Given the description of an element on the screen output the (x, y) to click on. 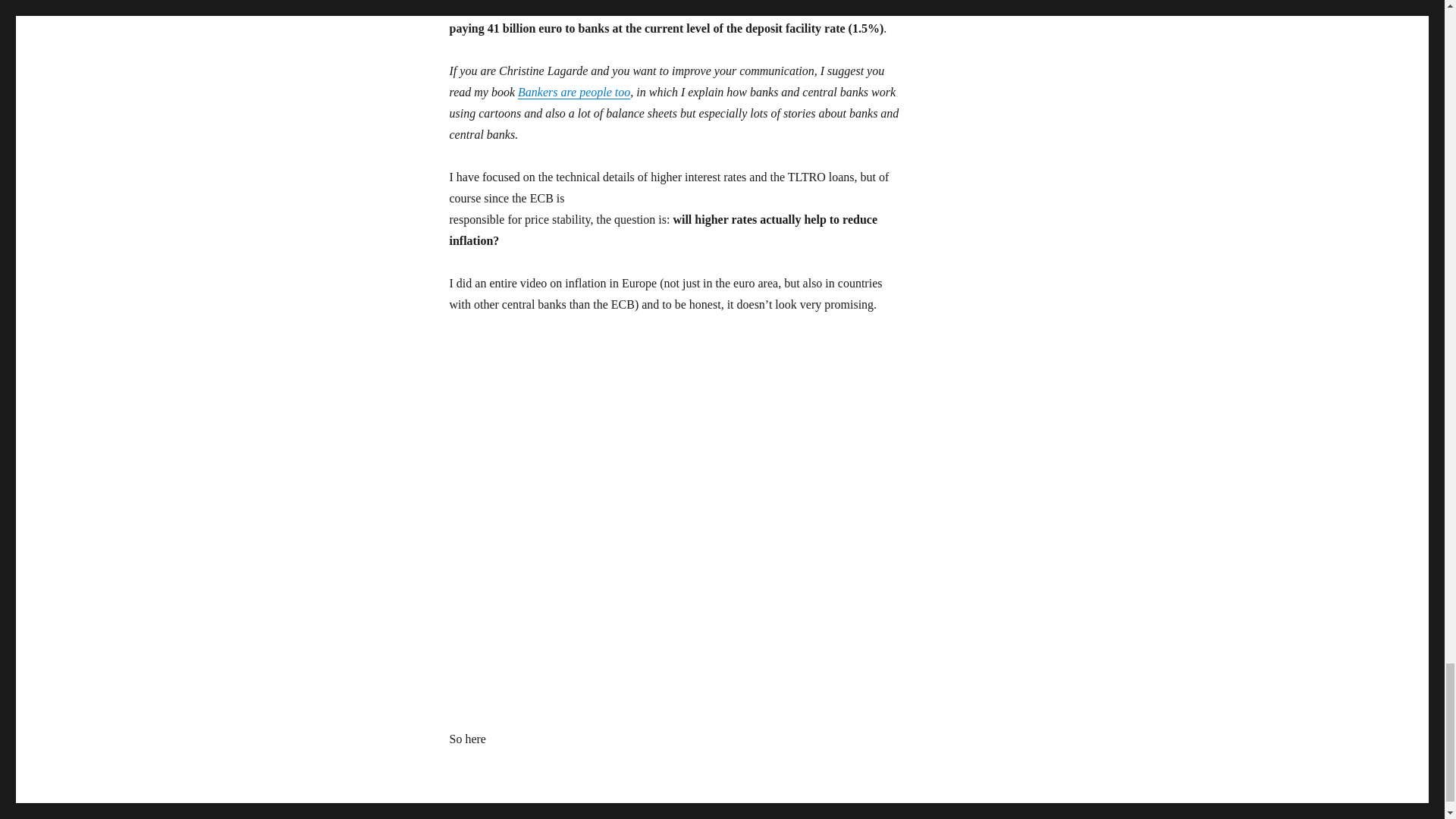
Bankers are people too (574, 91)
